Given the description of an element on the screen output the (x, y) to click on. 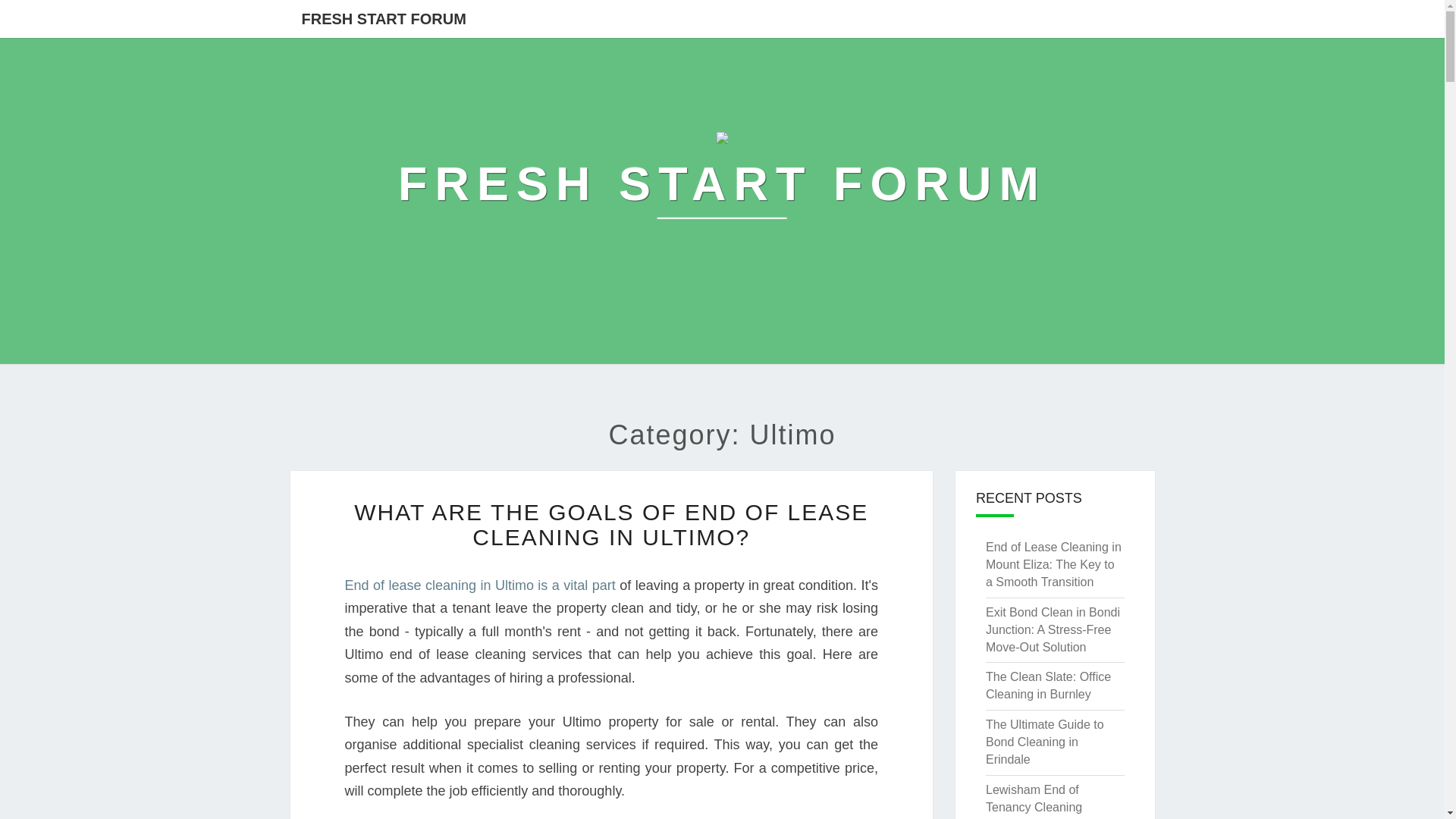
FRESH START FORUM (721, 184)
WHAT ARE THE GOALS OF END OF LEASE CLEANING IN ULTIMO? (610, 524)
The Ultimate Guide to Bond Cleaning in Erindale (1044, 741)
Fresh Start Forum (721, 184)
Lewisham End of Tenancy Cleaning (1033, 798)
FRESH START FORUM (383, 18)
End of lease cleaning in Ultimo is a vital part (478, 585)
The Clean Slate: Office Cleaning in Burnley (1047, 685)
